Given the description of an element on the screen output the (x, y) to click on. 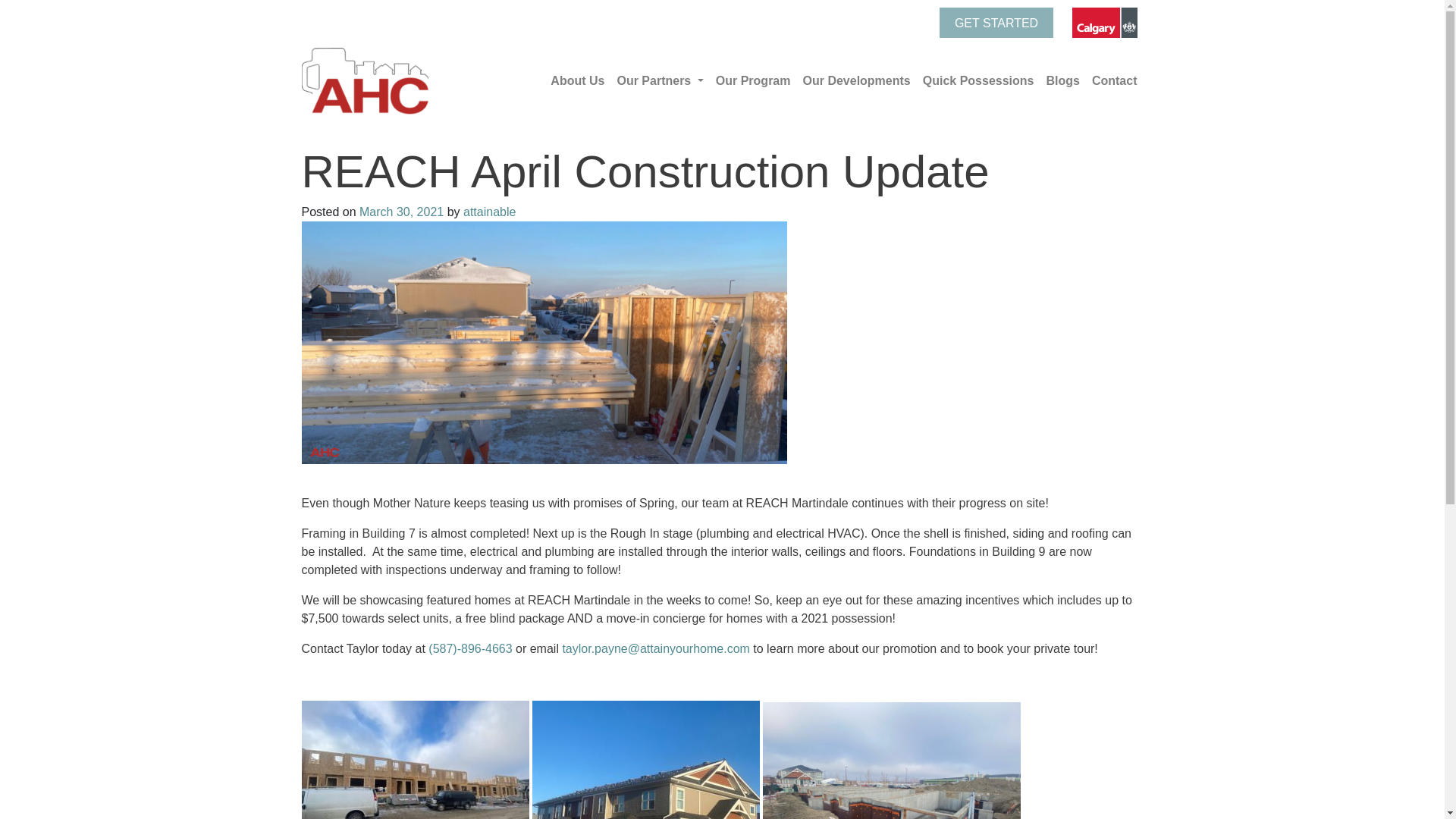
About Us (577, 81)
Our Program (753, 81)
Blogs (1061, 81)
About Us (577, 81)
attainable (489, 211)
Our Developments (855, 81)
Contact (1114, 81)
Blogs (1061, 81)
March 30, 2021 (401, 211)
Quick Possessions (979, 81)
Our Developments (855, 81)
Quick Possessions (979, 81)
Our Partners (659, 81)
Our Program (753, 81)
Our Partners (659, 81)
